Given the description of an element on the screen output the (x, y) to click on. 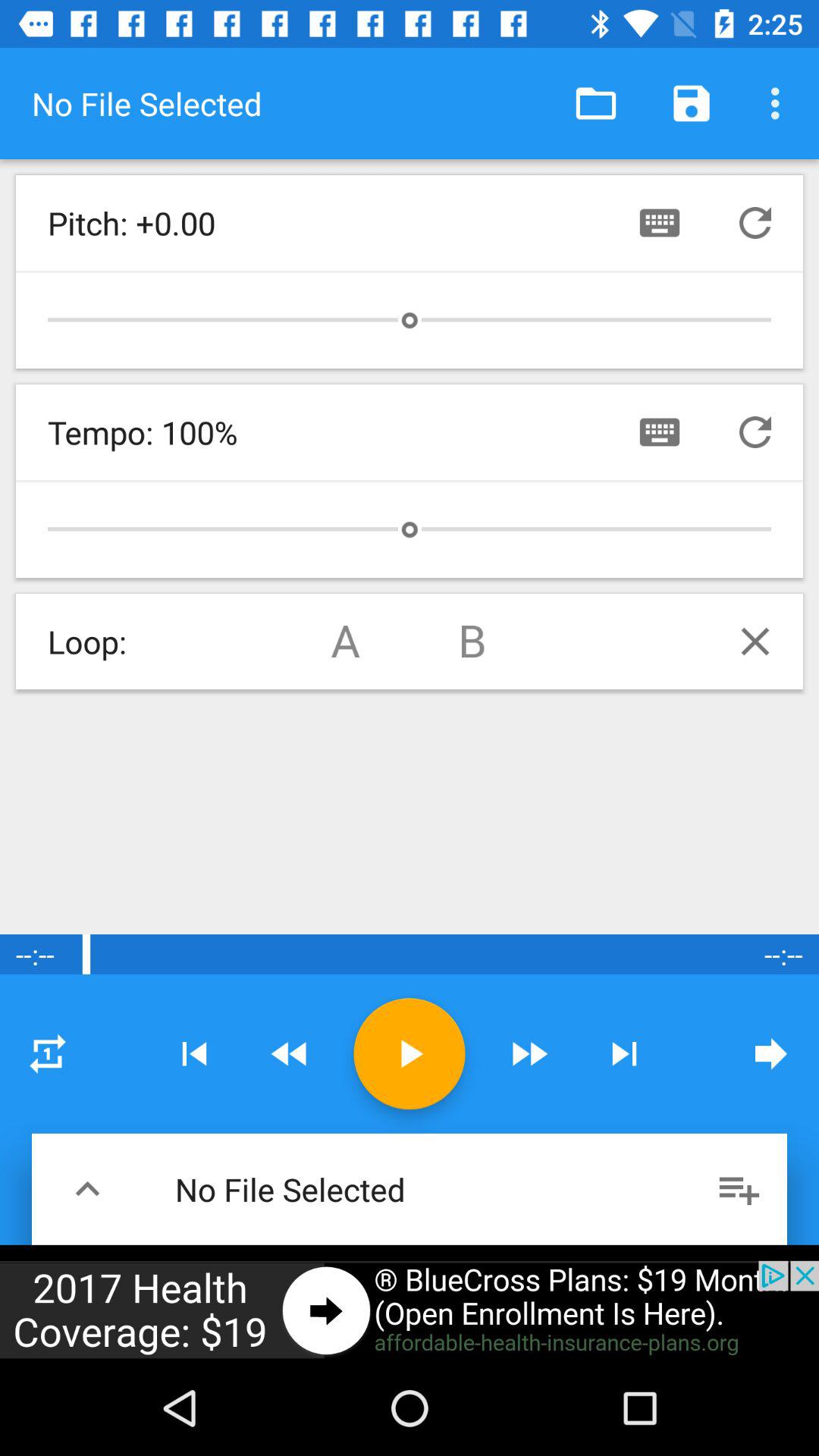
fast forward (528, 1053)
